Given the description of an element on the screen output the (x, y) to click on. 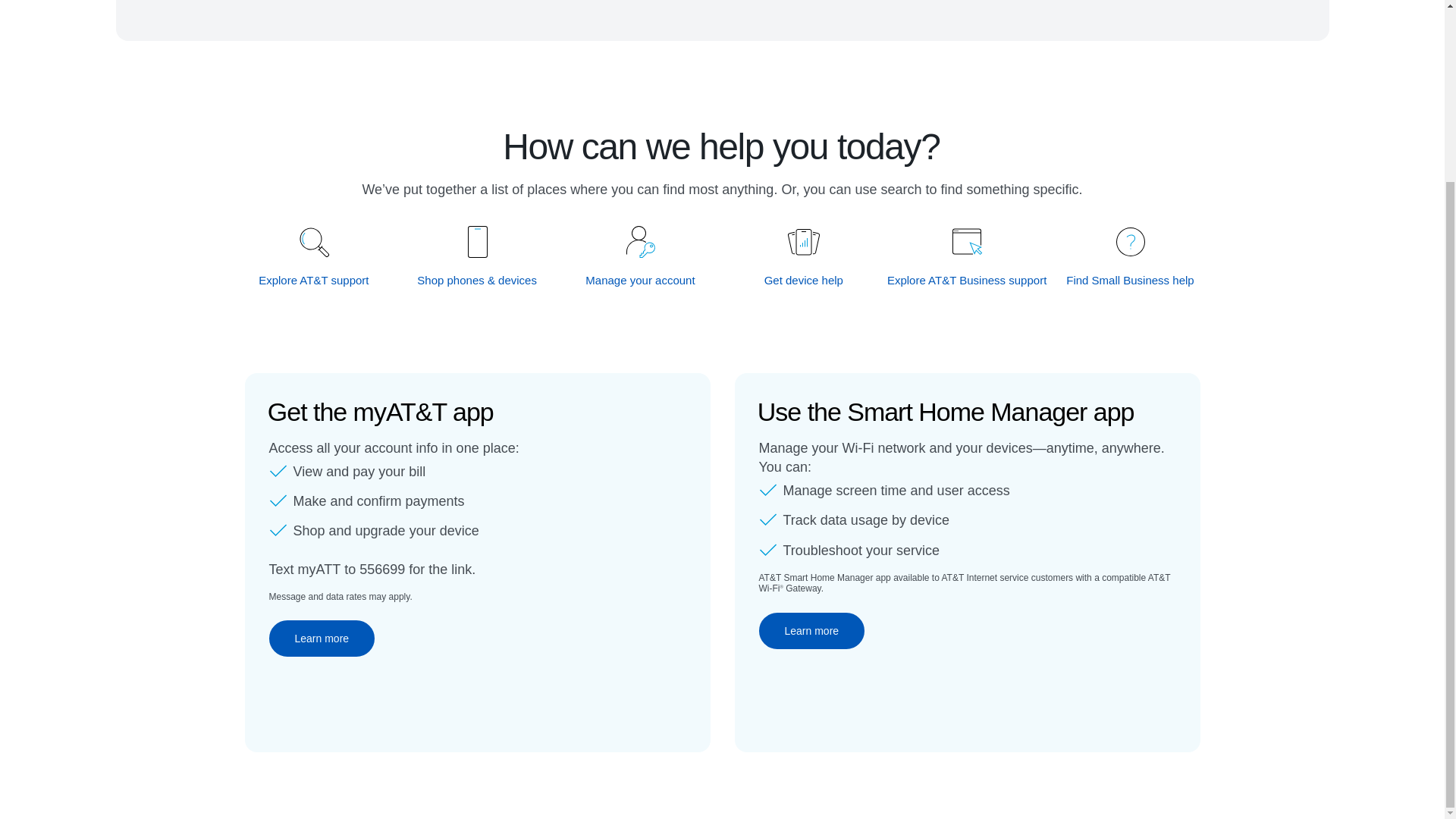
Get device help (803, 279)
Learn more (811, 630)
Manage your account (640, 279)
Find Small Business help (1130, 279)
Learn more (320, 637)
